Given the description of an element on the screen output the (x, y) to click on. 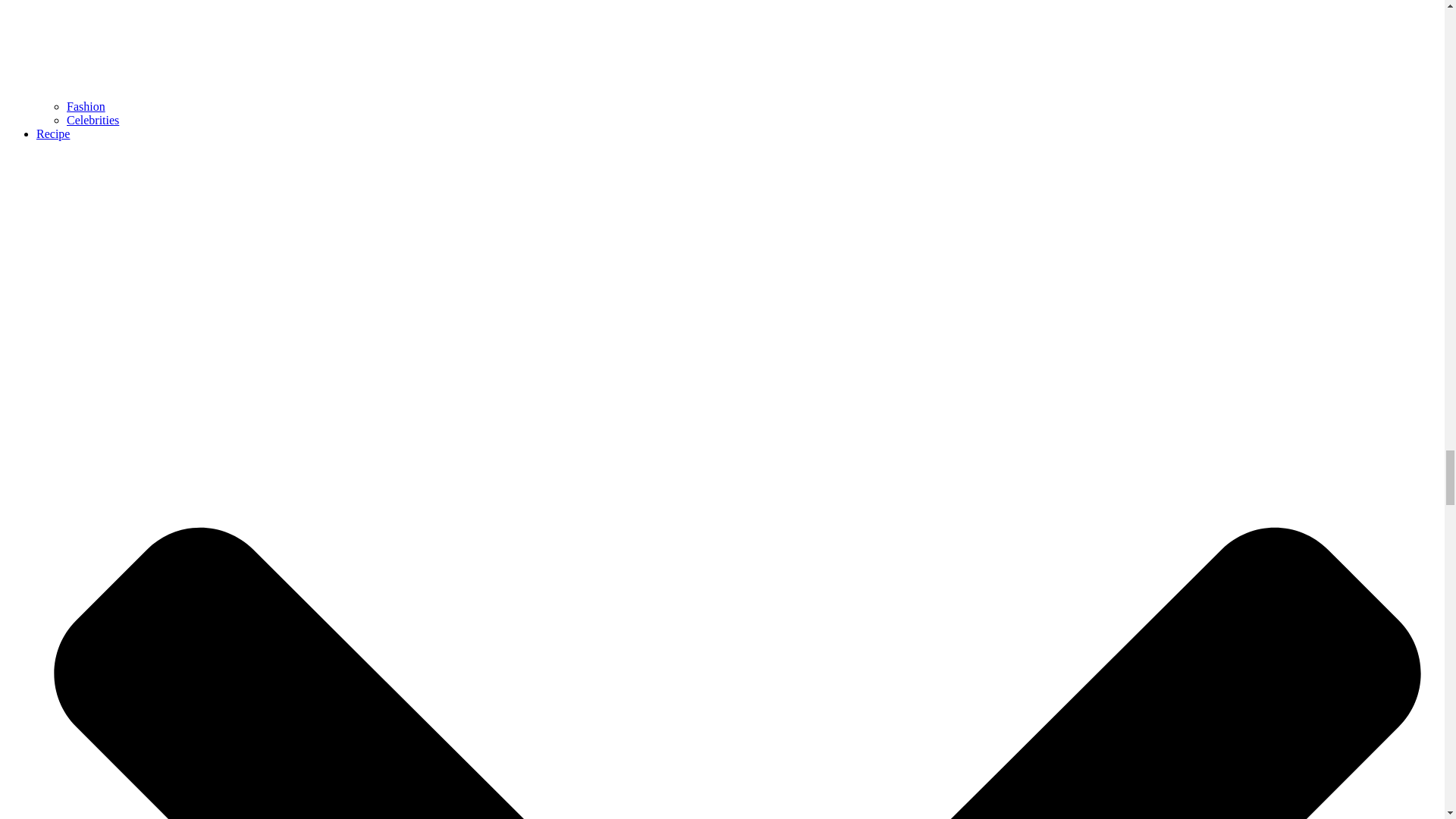
Fashion (85, 106)
Fashion (85, 106)
Celebrities (92, 119)
